Given the description of an element on the screen output the (x, y) to click on. 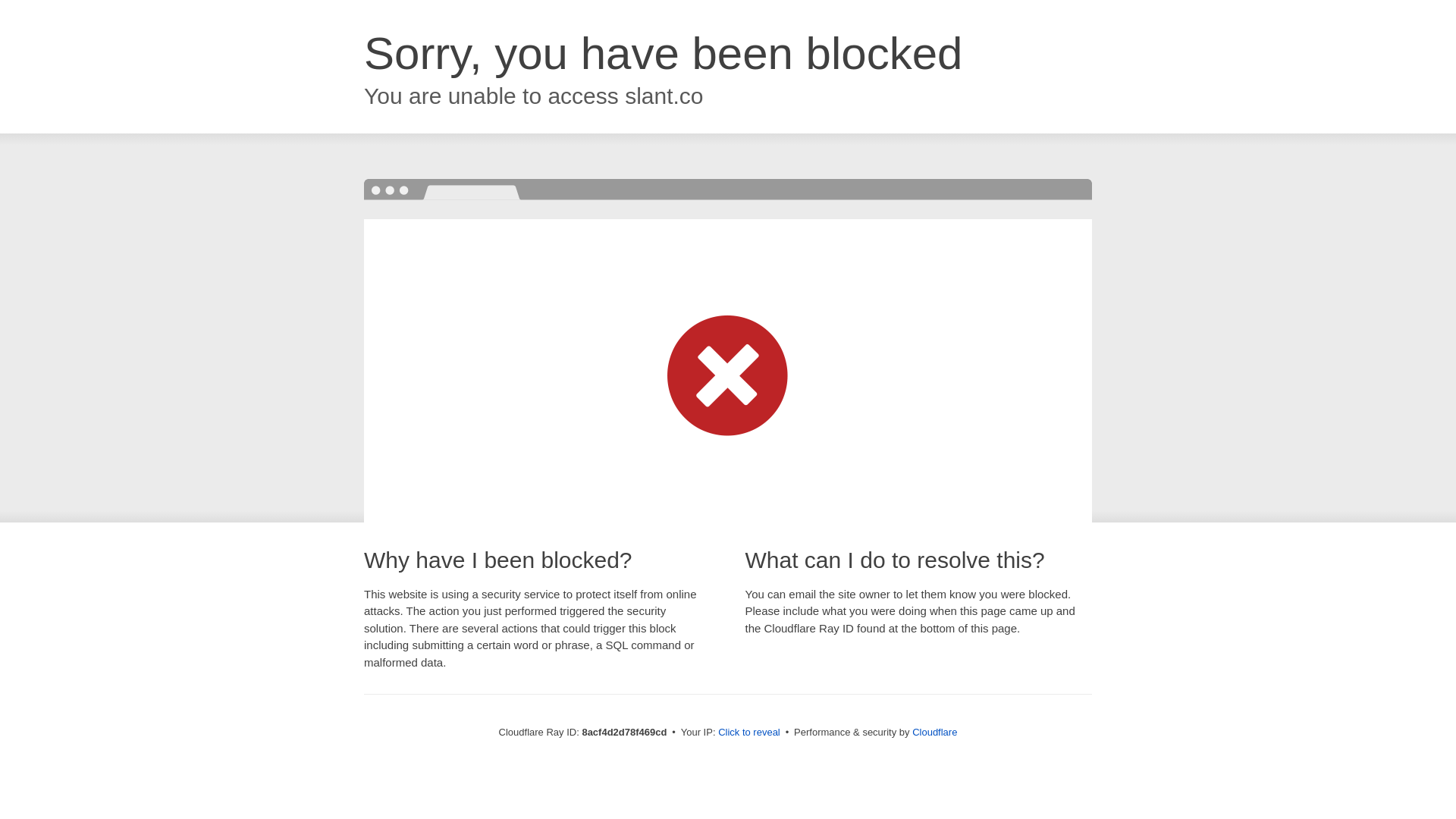
Cloudflare (934, 731)
Click to reveal (748, 732)
